Given the description of an element on the screen output the (x, y) to click on. 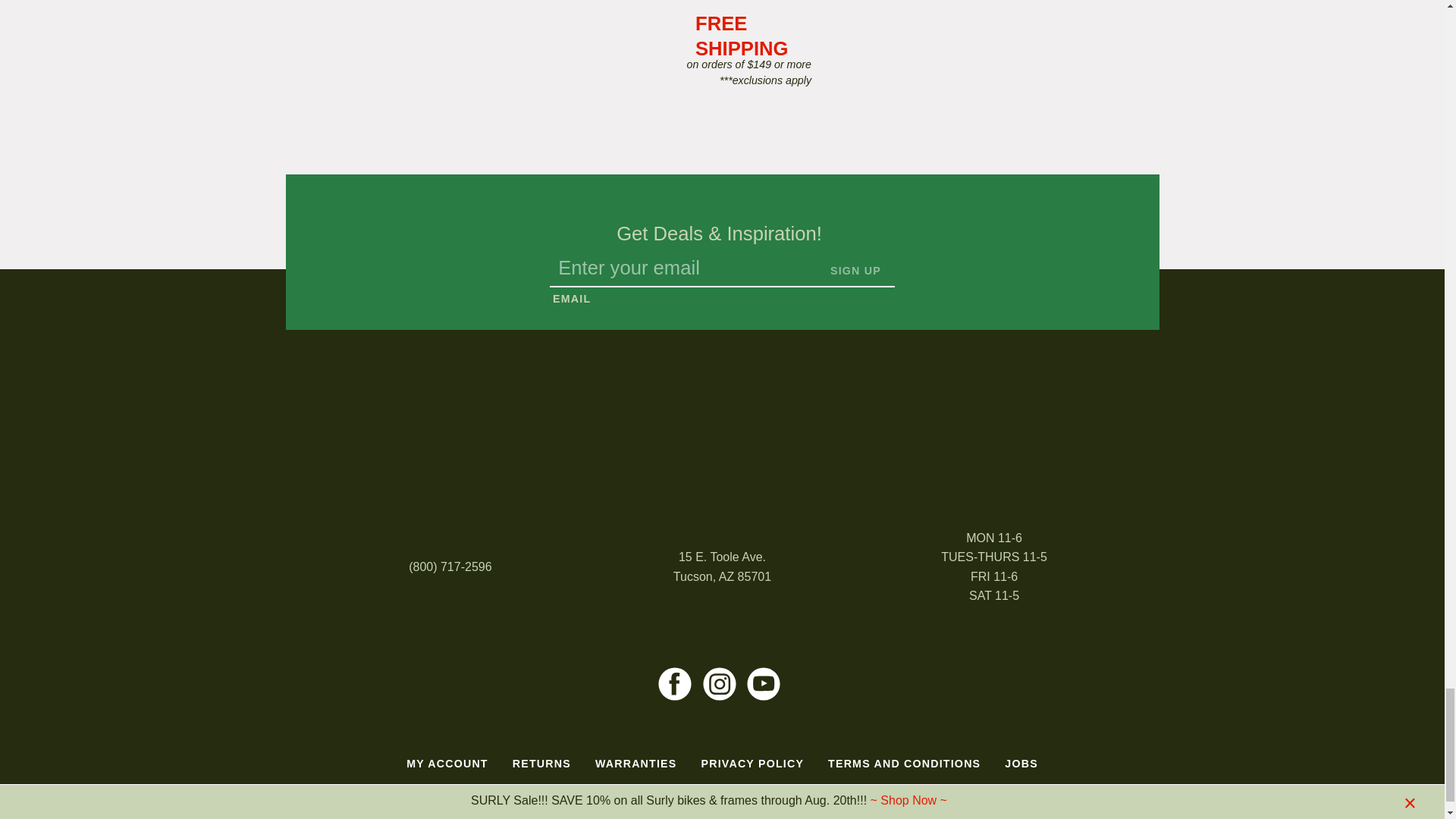
Facebook (675, 683)
to home page (722, 428)
Instagram (718, 683)
YouTube (762, 683)
